Given the description of an element on the screen output the (x, y) to click on. 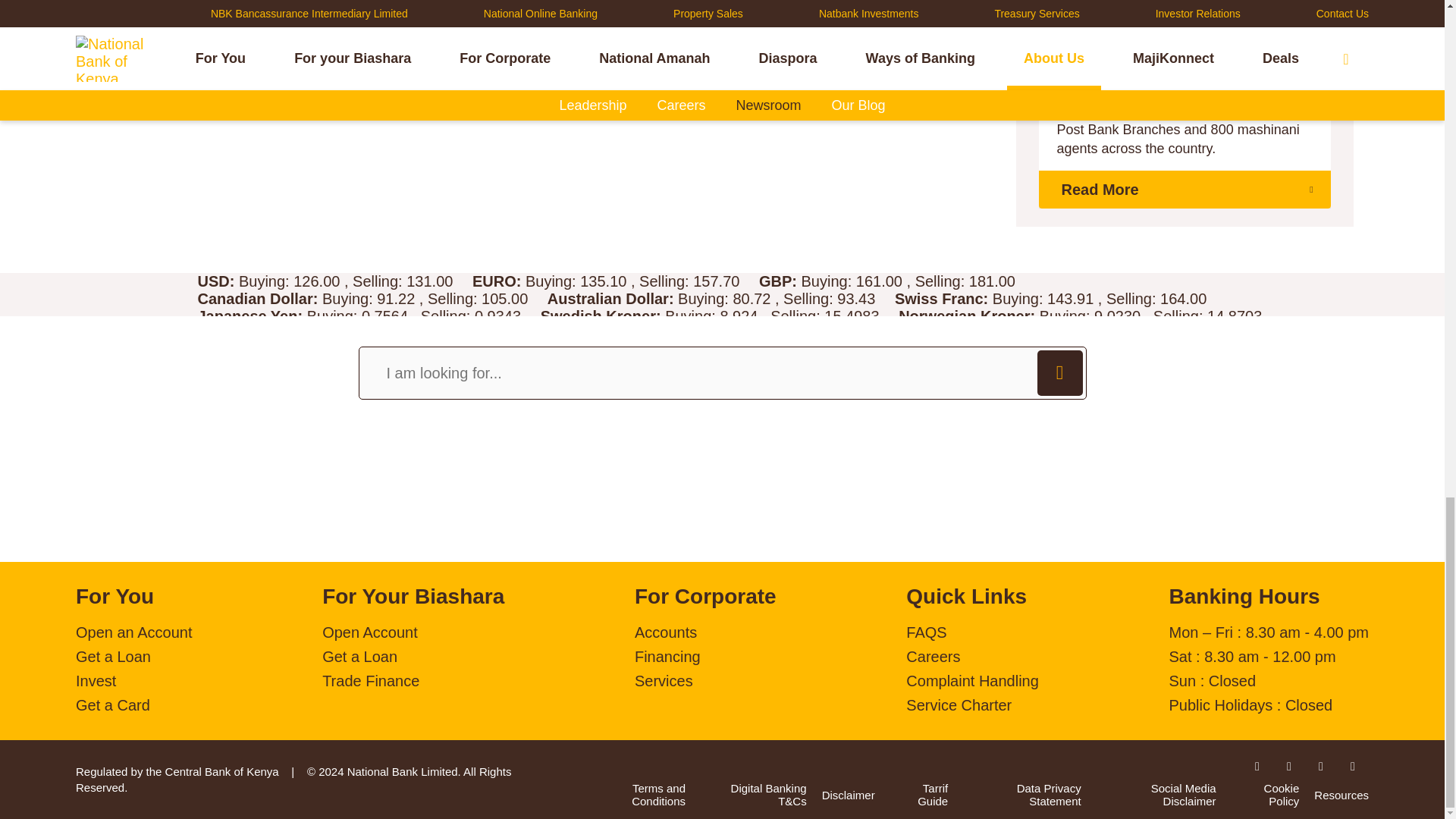
National Bank taps into Kenswitch and Postbank Network (1185, 38)
Share on Facebook (162, 29)
Share on Twitter (200, 29)
Share on LinkedIn (238, 29)
